Given the description of an element on the screen output the (x, y) to click on. 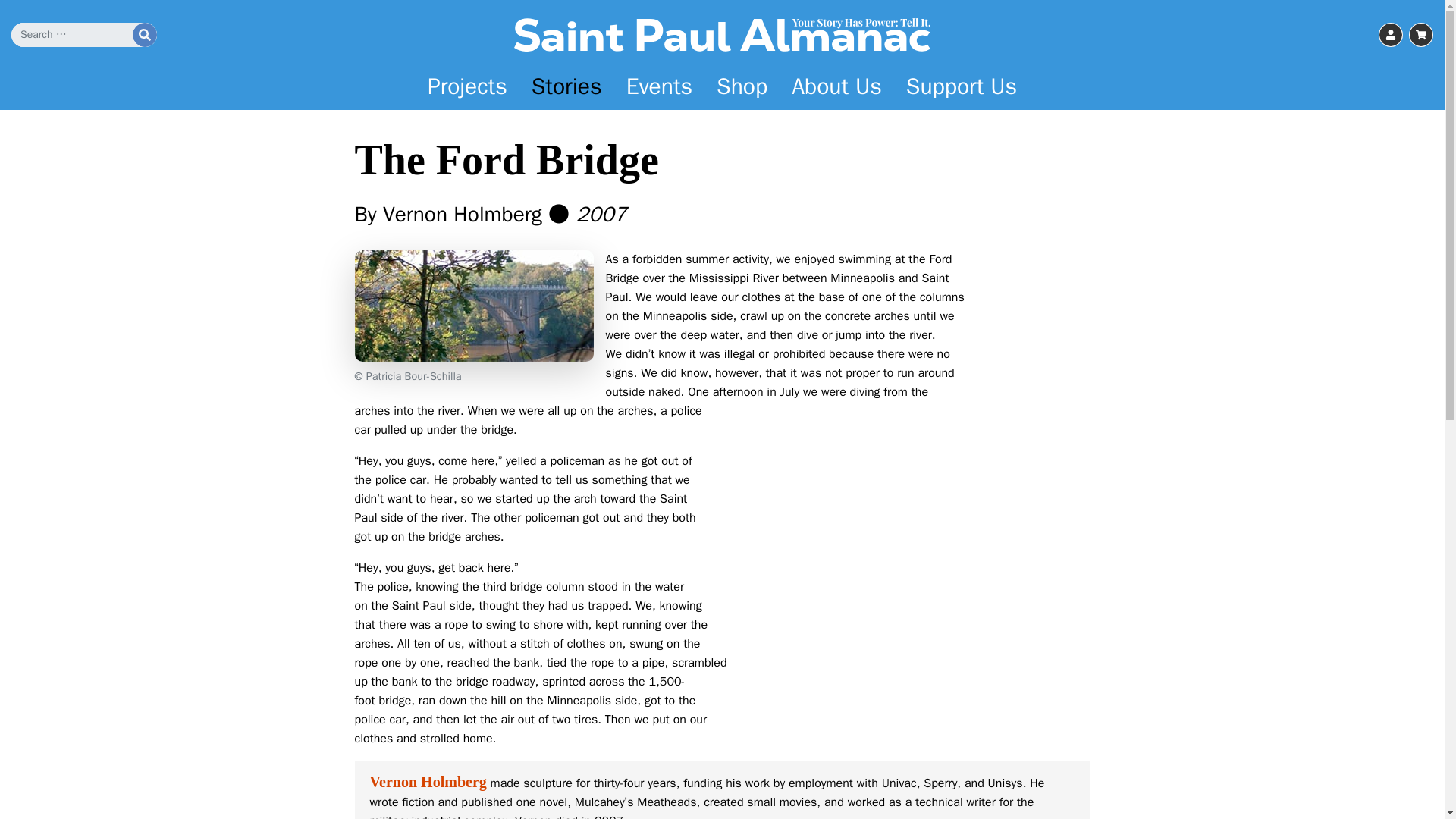
Shop (741, 86)
About Us (835, 86)
Events (659, 86)
Account (1390, 34)
 SEARCH (144, 34)
Stories (566, 86)
Projects (466, 86)
Cart (1420, 34)
Support Us (961, 86)
